Given the description of an element on the screen output the (x, y) to click on. 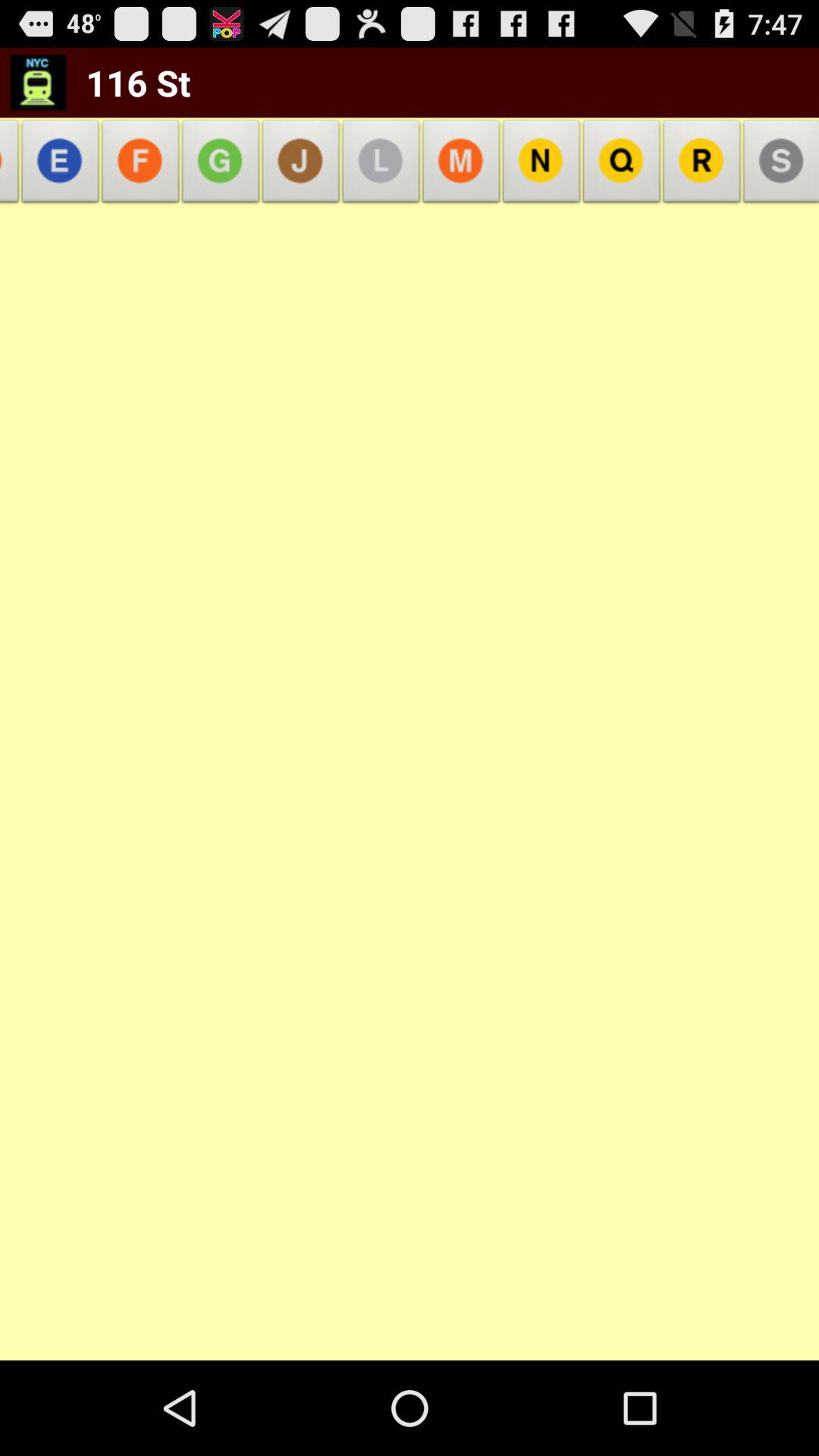
open item to the left of 116 st app (37, 82)
